Given the description of an element on the screen output the (x, y) to click on. 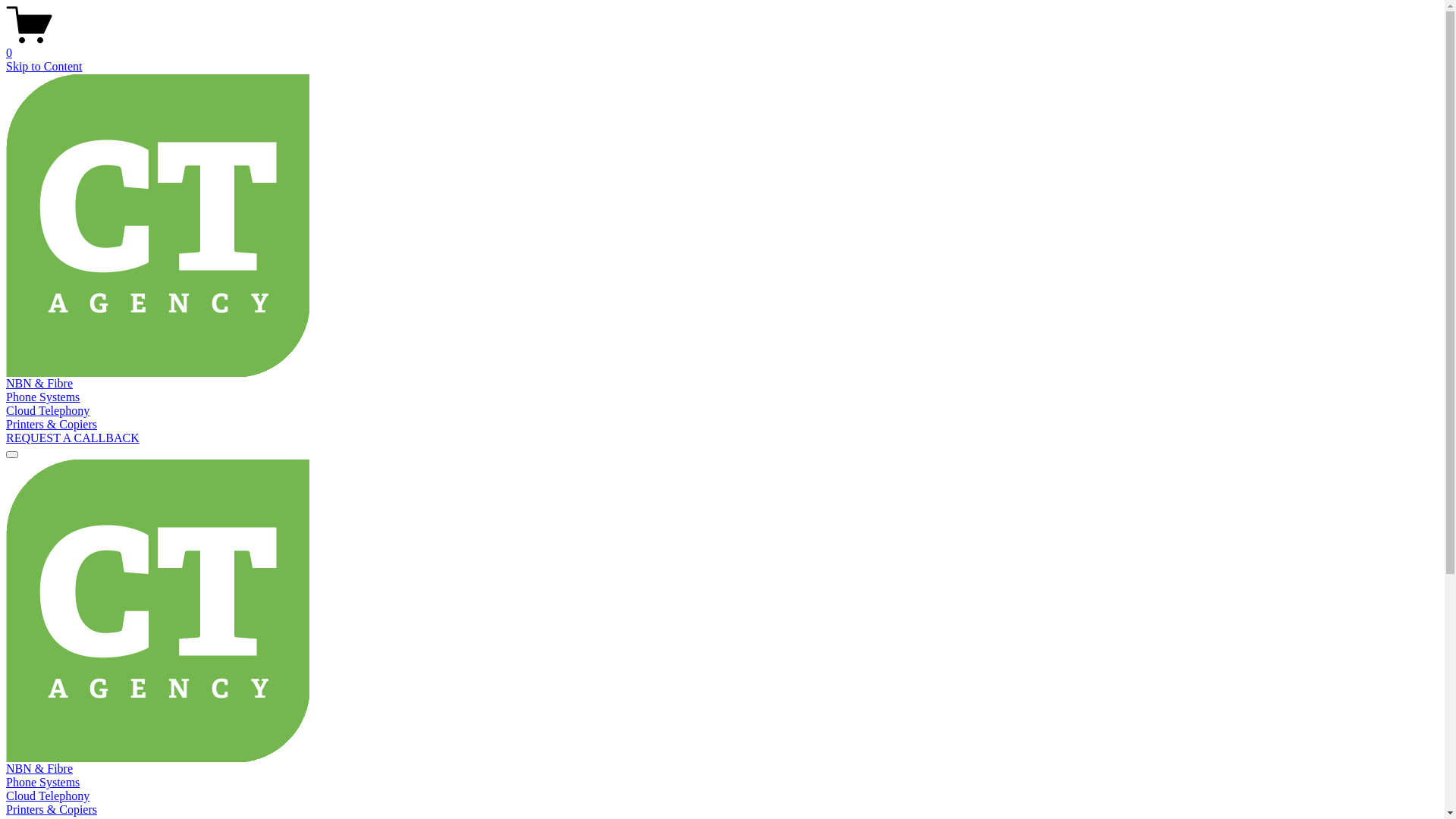
Skip to Content Element type: text (43, 65)
Phone Systems Element type: text (42, 781)
Printers & Copiers Element type: text (51, 423)
REQUEST A CALLBACK Element type: text (72, 437)
Cloud Telephony Element type: text (47, 795)
NBN & Fibre Element type: text (39, 768)
Phone Systems Element type: text (42, 396)
NBN & Fibre Element type: text (39, 382)
Cloud Telephony Element type: text (47, 410)
Printers & Copiers Element type: text (51, 809)
0 Element type: text (722, 45)
